Given the description of an element on the screen output the (x, y) to click on. 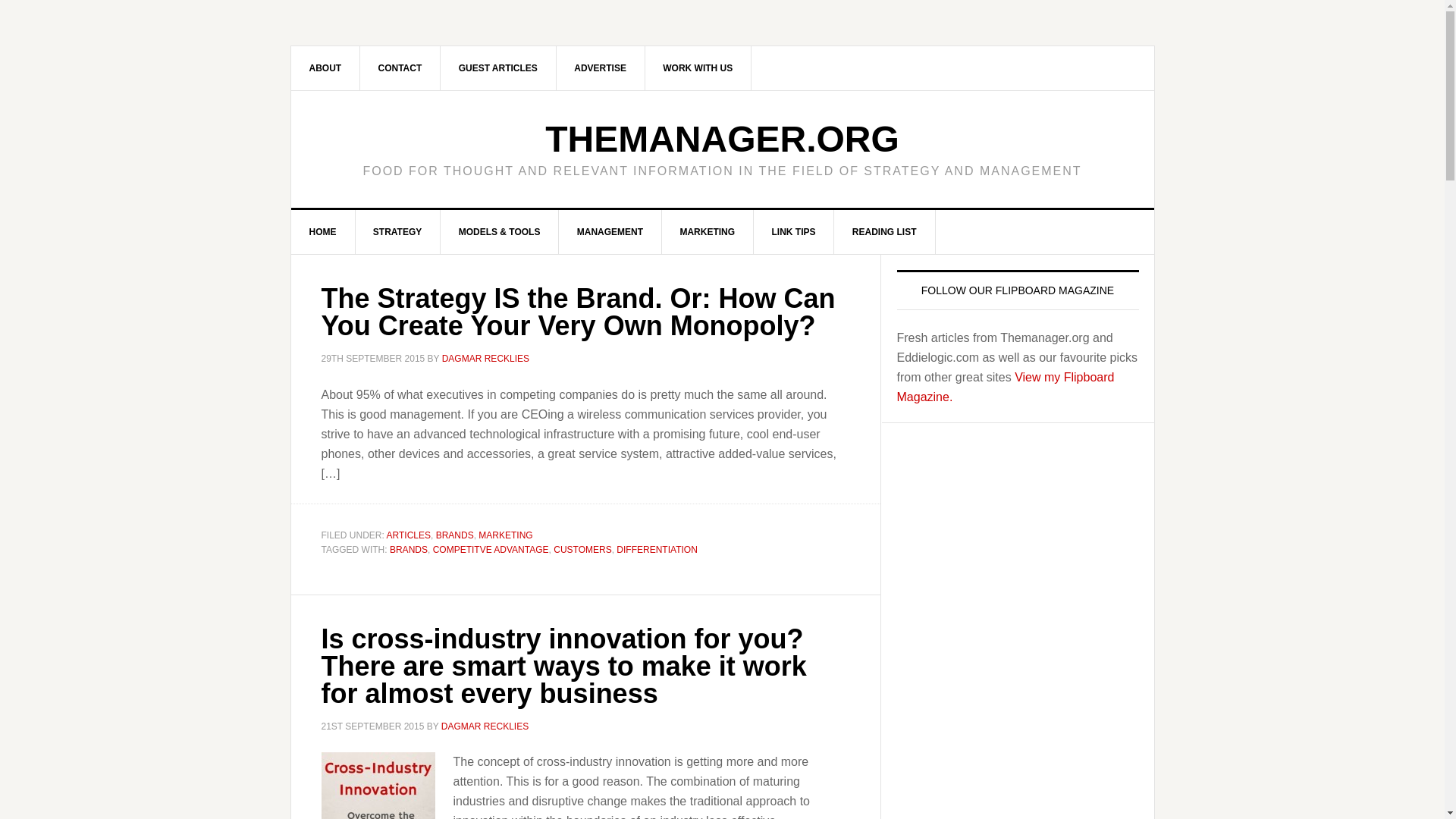
CUSTOMERS (582, 549)
ABOUT (326, 67)
ADVERTISE (600, 67)
CONTACT (400, 67)
DIFFERENTIATION (656, 549)
BRANDS (454, 534)
MARKETING (707, 231)
LINK TIPS (793, 231)
Advertising options and content marketing on Themanager.org (600, 67)
THEMANAGER.ORG (721, 138)
